Given the description of an element on the screen output the (x, y) to click on. 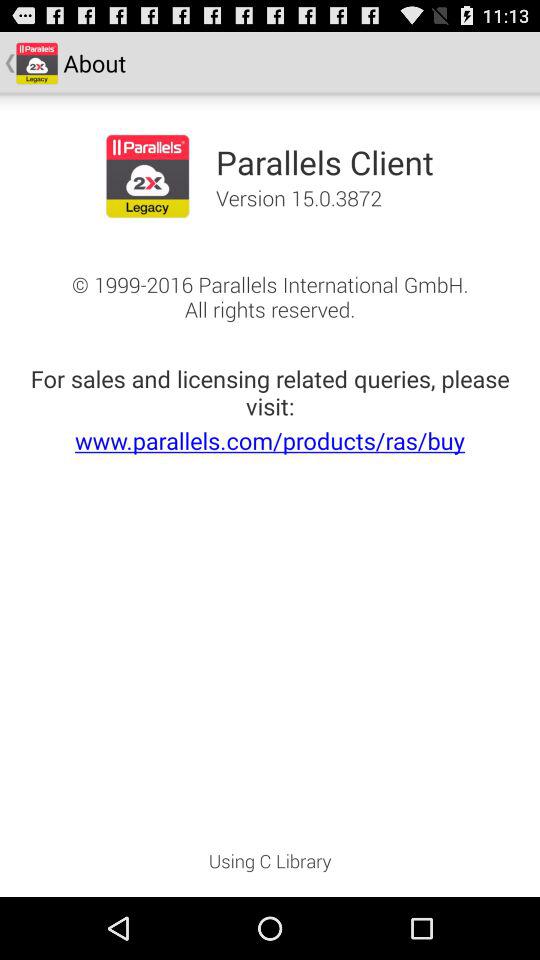
launch using c library icon (269, 867)
